Given the description of an element on the screen output the (x, y) to click on. 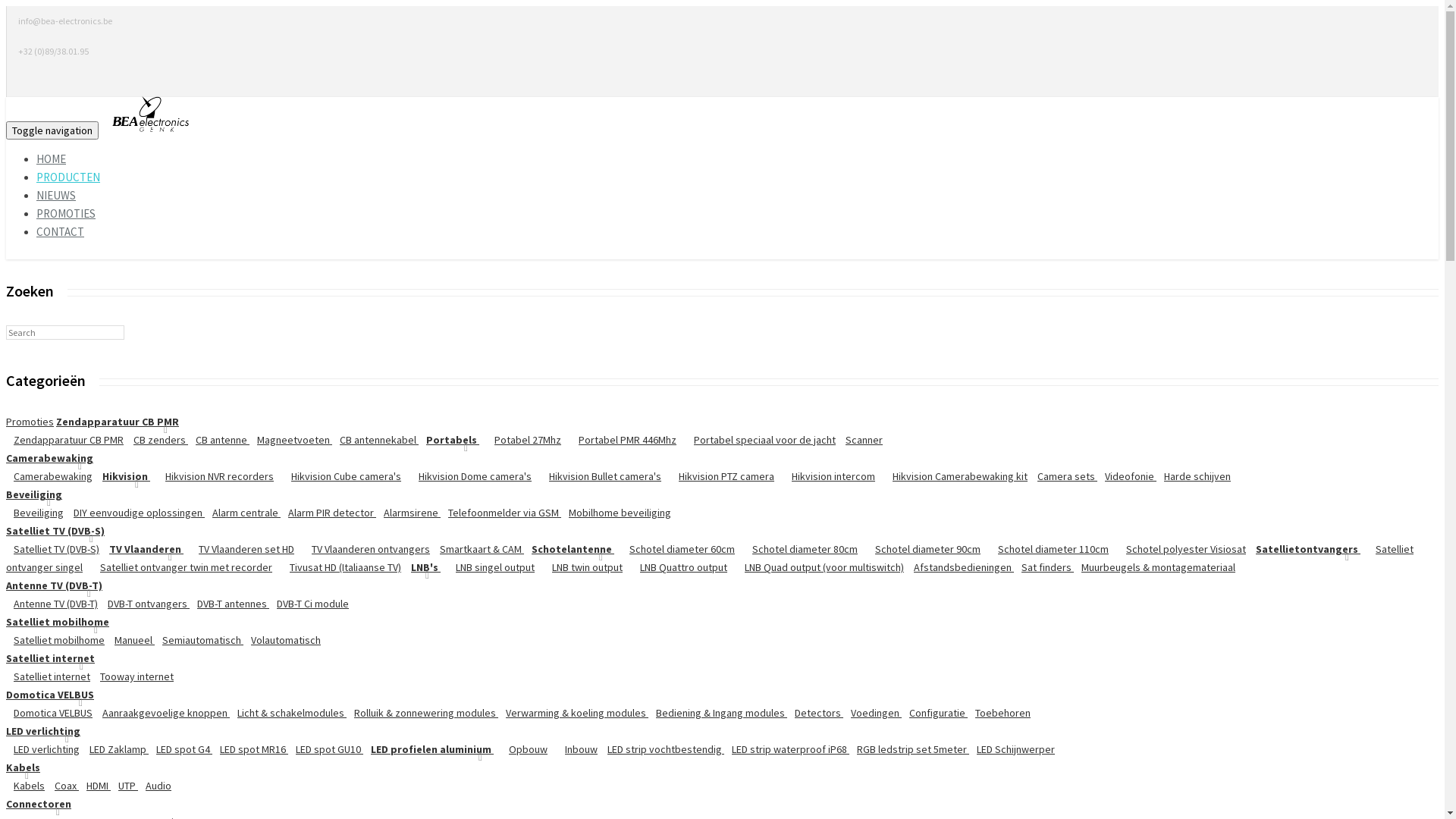
LNB's Element type: text (421, 567)
Audio Element type: text (154, 785)
LED strip waterproof iP68 Element type: text (786, 749)
Schotel diameter 80cm Element type: text (797, 548)
Coax Element type: text (62, 785)
Opbouw Element type: text (520, 749)
Beveiliging Element type: text (34, 512)
Beveiliging Element type: text (34, 494)
Hikvision Dome camera's Element type: text (467, 476)
Satelliet ontvanger twin met recorder Element type: text (178, 567)
Scanner Element type: text (859, 439)
Bediening & Ingang modules Element type: text (717, 712)
HDMI Element type: text (94, 785)
DVB-T antennes Element type: text (229, 603)
Tooway internet Element type: text (132, 676)
Licht & schakelmodules Element type: text (287, 712)
TV Vlaanderen set HD Element type: text (238, 548)
Sat finders Element type: text (1043, 567)
Alarmsirene Element type: text (408, 512)
Hikvision Camerabewaking kit Element type: text (952, 476)
Hikvision intercom Element type: text (825, 476)
Domotica VELBUS Element type: text (50, 694)
LED Zaklamp Element type: text (114, 749)
Camerabewaking Element type: text (49, 457)
TV Vlaanderen ontvangers Element type: text (362, 548)
Portabels Element type: text (448, 439)
CB zenders Element type: text (156, 439)
Zendapparatuur CB PMR Element type: text (117, 421)
Toggle navigation Element type: text (52, 130)
Satelliet ontvanger singel Element type: text (709, 558)
Satelliet mobilhome Element type: text (55, 639)
LED profielen aluminium Element type: text (428, 749)
LNB twin output Element type: text (579, 567)
Portabel PMR 446Mhz Element type: text (619, 439)
LNB Quad output (voor multiswitch) Element type: text (816, 567)
Afstandsbedieningen Element type: text (959, 567)
DVB-T Ci module Element type: text (308, 603)
PROMOTIES Element type: text (65, 213)
RGB ledstrip set 5meter Element type: text (909, 749)
Antenne TV (DVB-T) Element type: text (54, 585)
Videofonie Element type: text (1126, 476)
NIEUWS Element type: text (55, 195)
Antenne TV (DVB-T) Element type: text (51, 603)
Muurbeugels & montagemateriaal Element type: text (1154, 567)
Camerabewaking Element type: text (49, 476)
Telefoonmelder via GSM Element type: text (500, 512)
Schotel polyester Visiosat Element type: text (1177, 548)
Satelliet mobilhome Element type: text (57, 621)
Hikvision Bullet camera's Element type: text (597, 476)
Configuratie Element type: text (934, 712)
HOME Element type: text (50, 158)
Satelliet TV (DVB-S) Element type: text (55, 530)
CONTACT Element type: text (60, 231)
Satelliet internet Element type: text (50, 658)
Satelliet internet Element type: text (48, 676)
LNB Quattro output Element type: text (675, 567)
Hikvision Element type: text (122, 476)
Inbouw Element type: text (573, 749)
Kabels Element type: text (25, 785)
LED spot GU10 Element type: text (325, 749)
Smartkaart & CAM Element type: text (478, 548)
LNB singel output Element type: text (487, 567)
Kabels Element type: text (23, 767)
DVB-T ontvangers Element type: text (144, 603)
Alarm PIR detector Element type: text (328, 512)
Connectoren Element type: text (38, 803)
LED verlichting Element type: text (43, 730)
Hikvision Cube camera's Element type: text (338, 476)
Schotelantenne Element type: text (569, 548)
Aanraakgevoelige knoppen Element type: text (161, 712)
TV Vlaanderen Element type: text (142, 548)
LED spot MR16 Element type: text (250, 749)
Alarm centrale Element type: text (242, 512)
Voedingen Element type: text (872, 712)
Zendapparatuur CB PMR Element type: text (64, 439)
Verwarming & koeling modules Element type: text (573, 712)
Semiautomatisch Element type: text (198, 639)
Hikvision PTZ camera Element type: text (718, 476)
LED verlichting Element type: text (42, 749)
Domotica VELBUS Element type: text (49, 712)
Promoties Element type: text (29, 421)
Volautomatisch Element type: text (281, 639)
PRODUCTEN Element type: text (68, 176)
LED Schijnwerper Element type: text (1011, 749)
Potabel 27Mhz Element type: text (520, 439)
LED spot G4 Element type: text (180, 749)
UTP Element type: text (124, 785)
Portabel speciaal voor de jacht Element type: text (756, 439)
Rolluik & zonnewering modules Element type: text (422, 712)
Magneetvoeten Element type: text (290, 439)
Manueel Element type: text (130, 639)
Harde schijven Element type: text (1193, 476)
CB antennekabel Element type: text (375, 439)
Mobilhome beveiliging Element type: text (616, 512)
Camera sets Element type: text (1063, 476)
Detectors Element type: text (815, 712)
Toebehoren Element type: text (998, 712)
Schotel diameter 60cm Element type: text (674, 548)
Tivusat HD (Italiaanse TV) Element type: text (337, 567)
Schotel diameter 110cm Element type: text (1045, 548)
DIY eenvoudige oplossingen Element type: text (134, 512)
Satelliet TV (DVB-S) Element type: text (52, 548)
LED strip vochtbestendig Element type: text (661, 749)
Hikvision NVR recorders Element type: text (211, 476)
Satellietontvangers Element type: text (1304, 548)
CB antenne Element type: text (218, 439)
Schotel diameter 90cm Element type: text (919, 548)
